Given the description of an element on the screen output the (x, y) to click on. 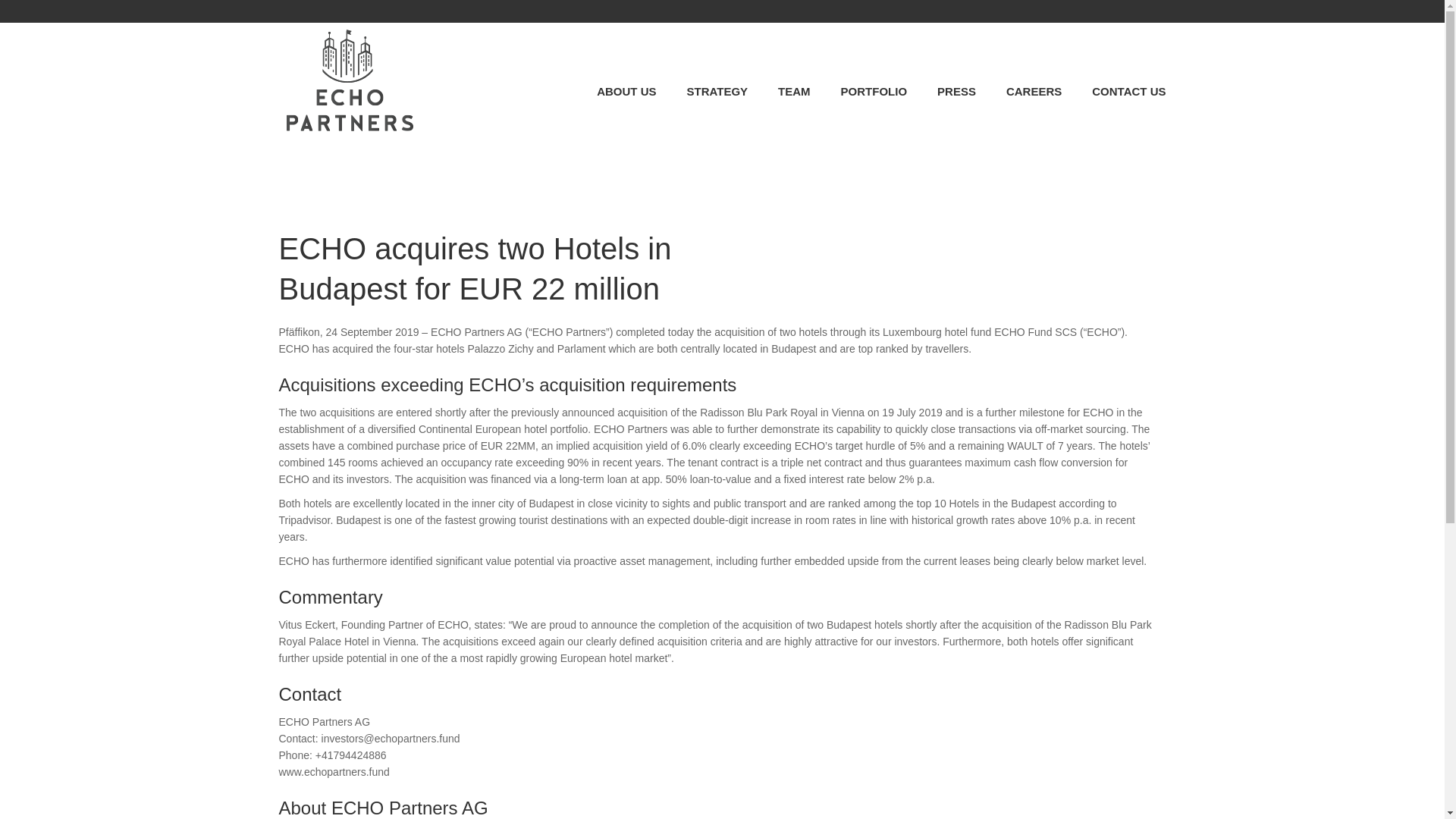
PORTFOLIO (874, 90)
STRATEGY (717, 90)
ABOUT US (626, 90)
www.echopartners.fund (334, 771)
CONTACT US (1129, 90)
PRESS (956, 90)
CAREERS (1033, 90)
TEAM (793, 90)
